Given the description of an element on the screen output the (x, y) to click on. 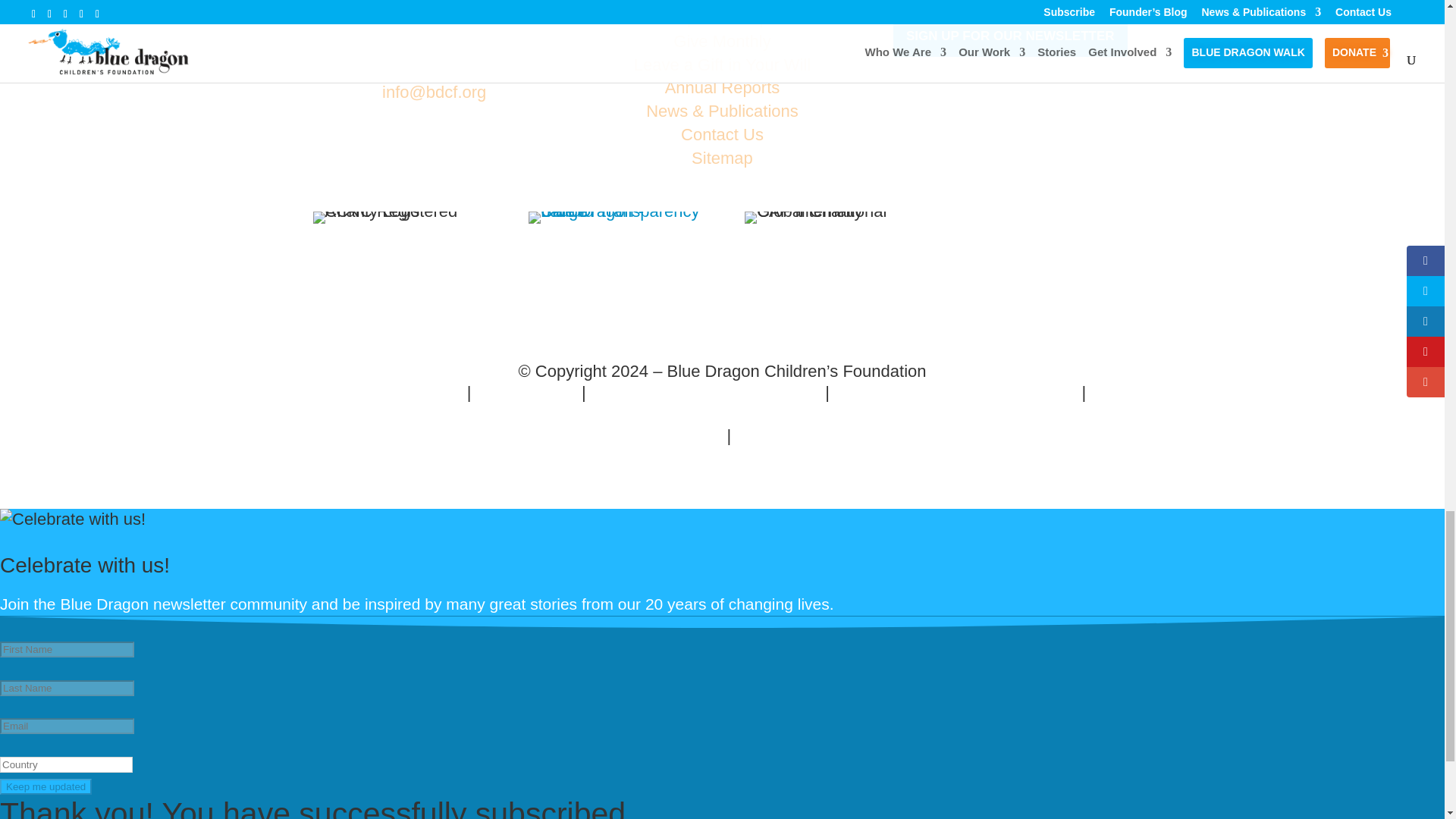
Follow on LinkedIn (470, 142)
profile-platinum2024-seal-resized-1 (613, 217)
Follow on Twitter (398, 142)
Follow on Instagram (505, 142)
ACNC Registered Charity Logo (398, 217)
Follow on Youtube (434, 142)
Follow on Facebook (362, 142)
